Given the description of an element on the screen output the (x, y) to click on. 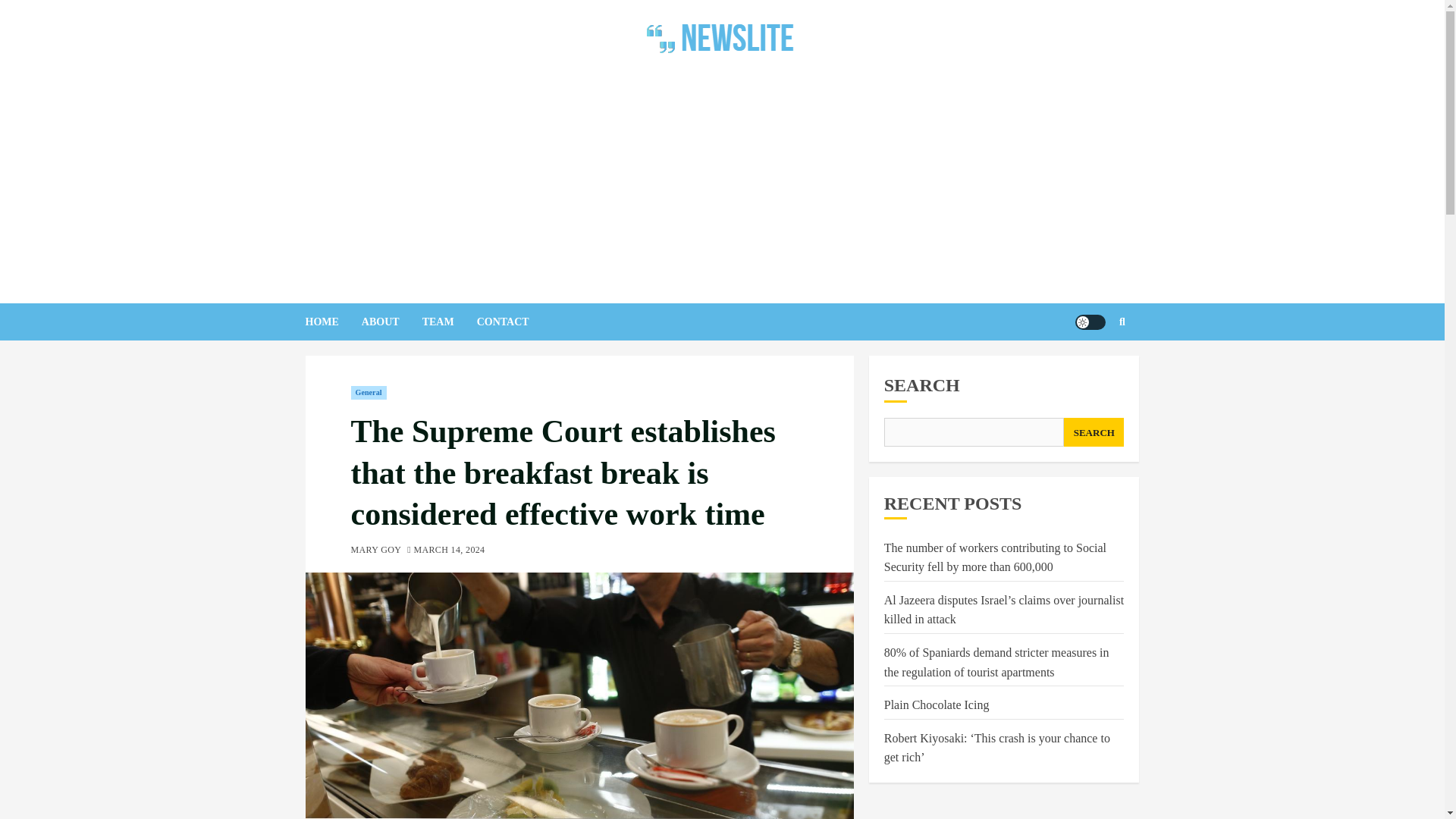
CONTACT (514, 321)
HOME (332, 321)
Plain Chocolate Icing (936, 704)
MARY GOY (375, 550)
SEARCH (1094, 431)
MARCH 14, 2024 (448, 550)
Search (1092, 367)
General (367, 392)
ABOUT (391, 321)
TEAM (449, 321)
